Given the description of an element on the screen output the (x, y) to click on. 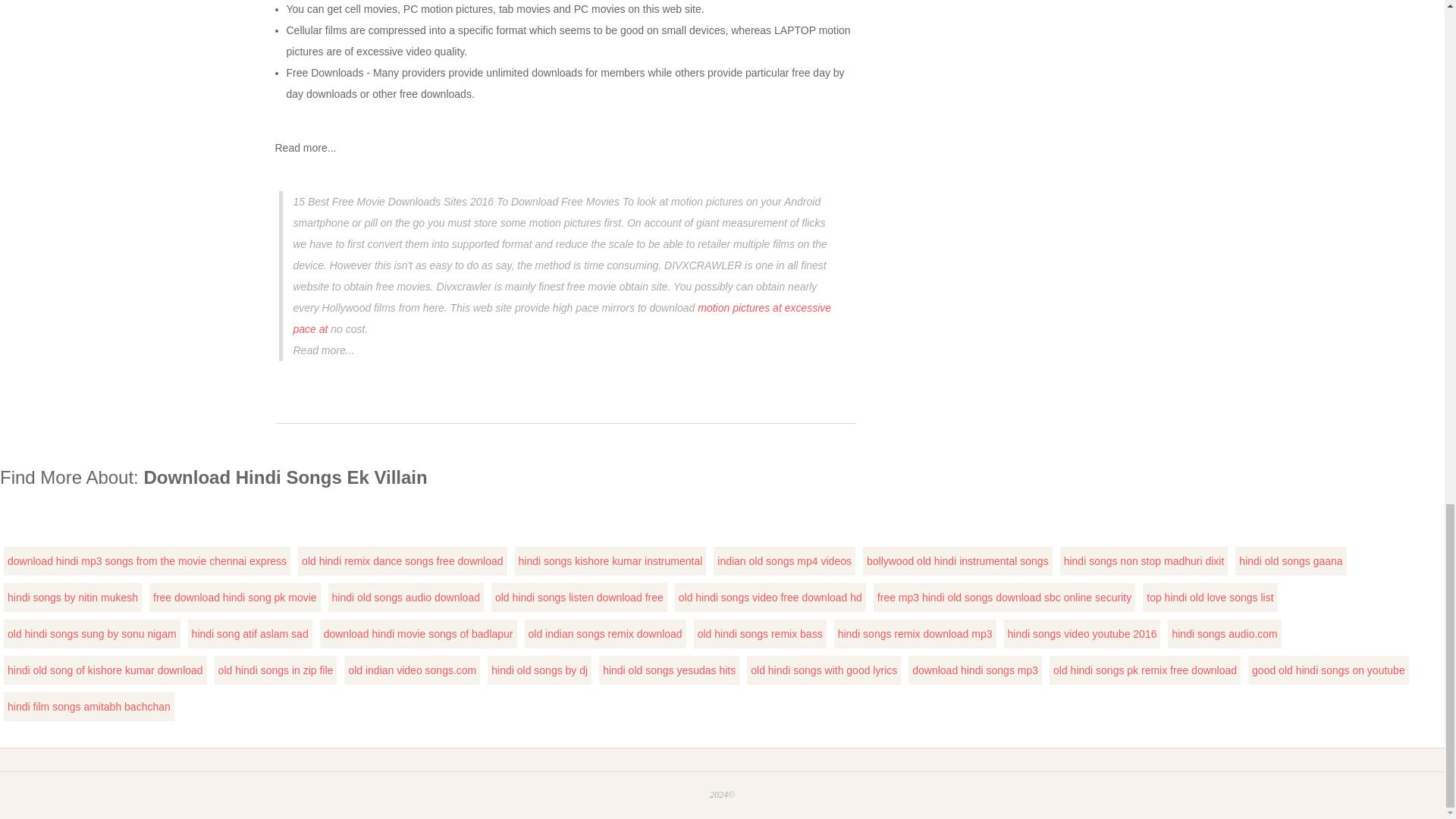
old hindi songs listen download free (579, 597)
old hindi songs pk remix free download (1144, 670)
download hindi movie songs of badlapur (418, 633)
hindi old songs audio download (405, 597)
good old hindi songs on youtube (1328, 670)
free mp3 hindi old songs download sbc online security (1004, 597)
indian old songs mp4 videos (784, 561)
download hindi mp3 songs from the movie chennai express (146, 561)
old hindi songs with good lyrics (823, 670)
hindi old songs gaana (1290, 561)
hindi old songs yesudas hits (668, 670)
hindi film songs amitabh bachchan (88, 706)
hindi songs video youtube 2016 (1082, 633)
old hindi songs video free download hd (769, 597)
motion pictures at excessive pace at (561, 318)
